Given the description of an element on the screen output the (x, y) to click on. 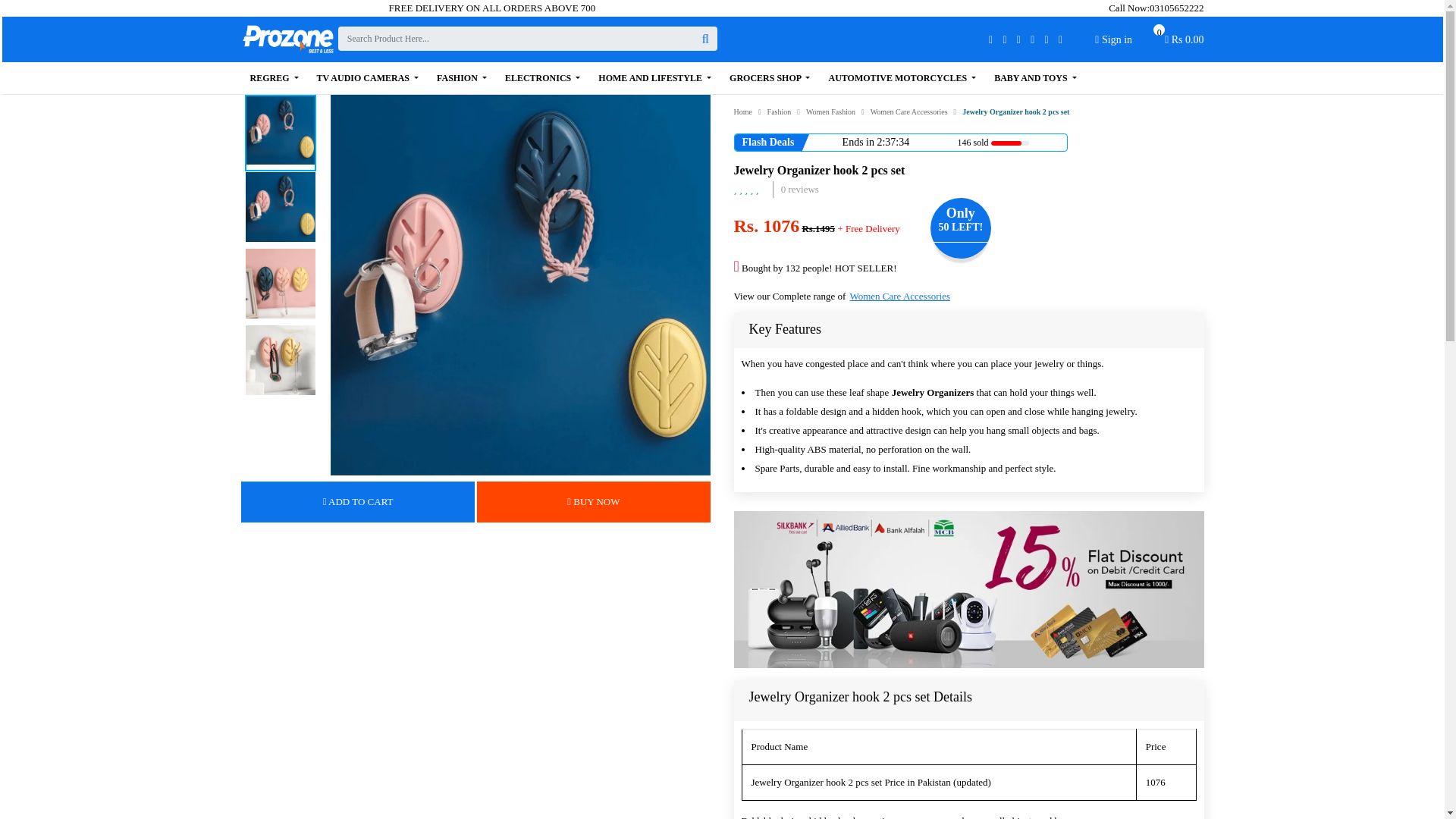
Sign in (1113, 39)
FASHION (462, 78)
03105652222 (1177, 7)
TV AUDIO CAMERAS (367, 78)
REGREG (1184, 42)
